Given the description of an element on the screen output the (x, y) to click on. 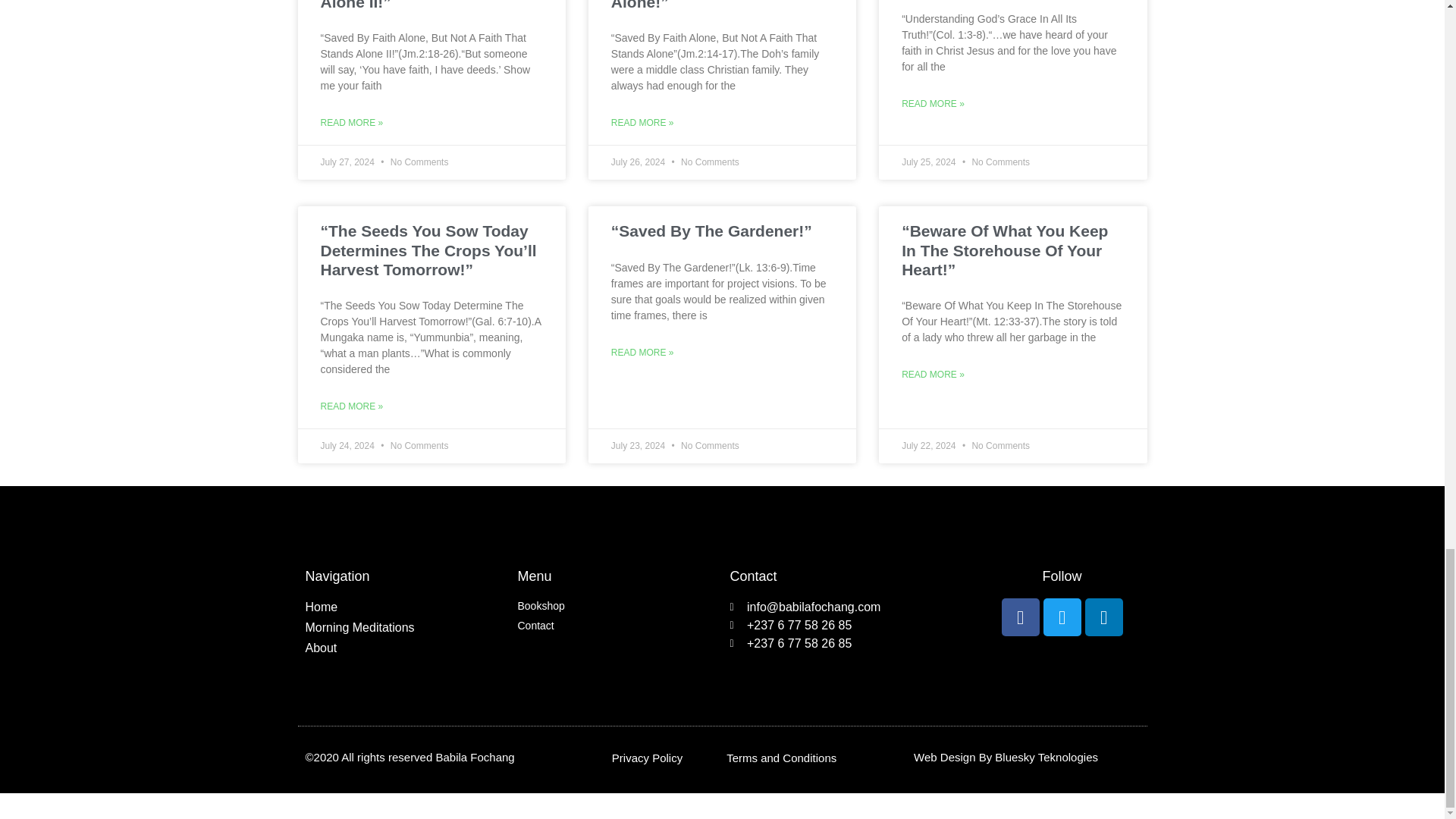
Home (403, 607)
Morning Meditations (403, 628)
About (403, 648)
